Given the description of an element on the screen output the (x, y) to click on. 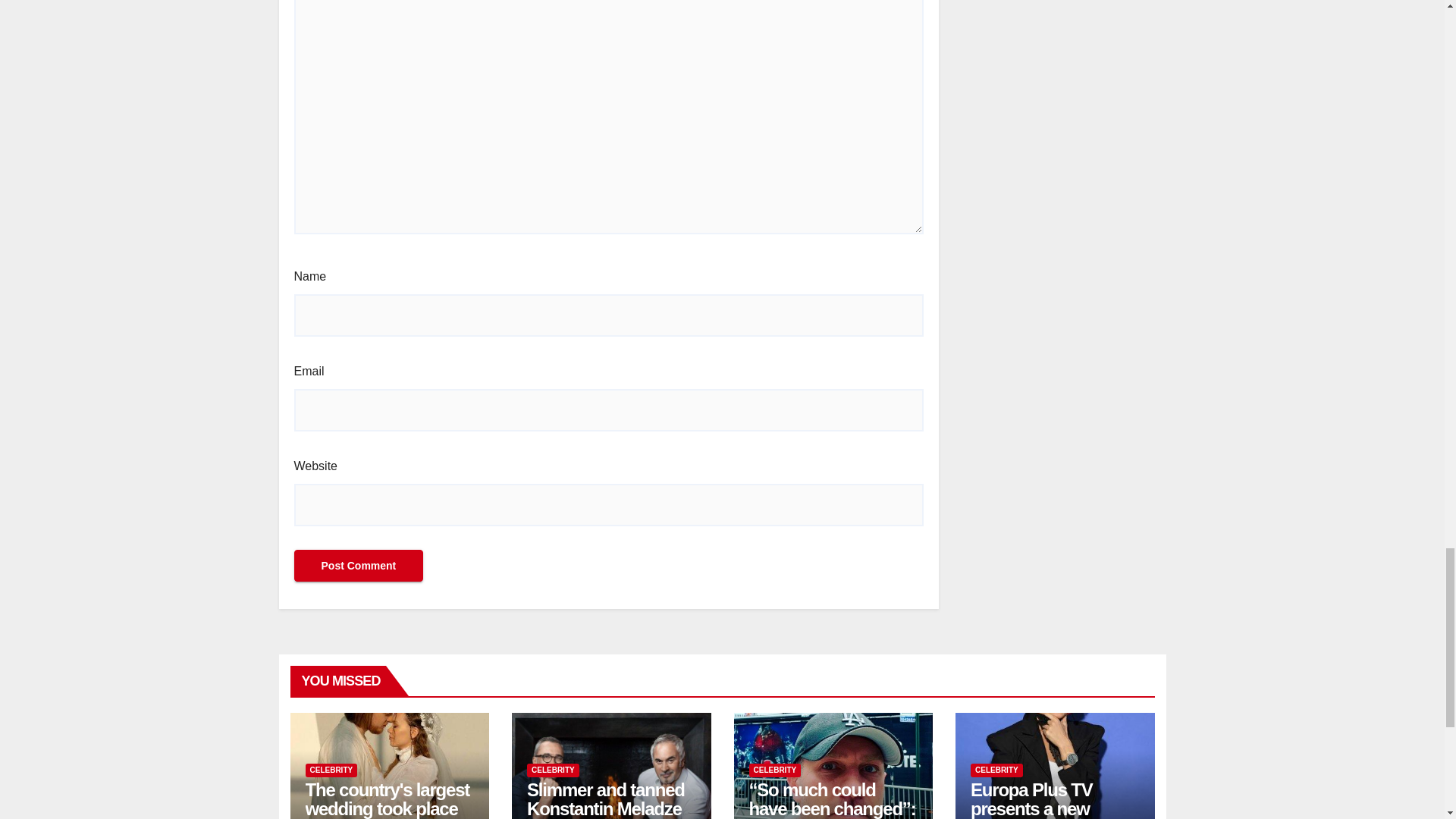
CELEBRITY (553, 770)
CELEBRITY (330, 770)
Post Comment (358, 565)
The country's largest wedding took place in Moscow (386, 799)
Post Comment (358, 565)
